Given the description of an element on the screen output the (x, y) to click on. 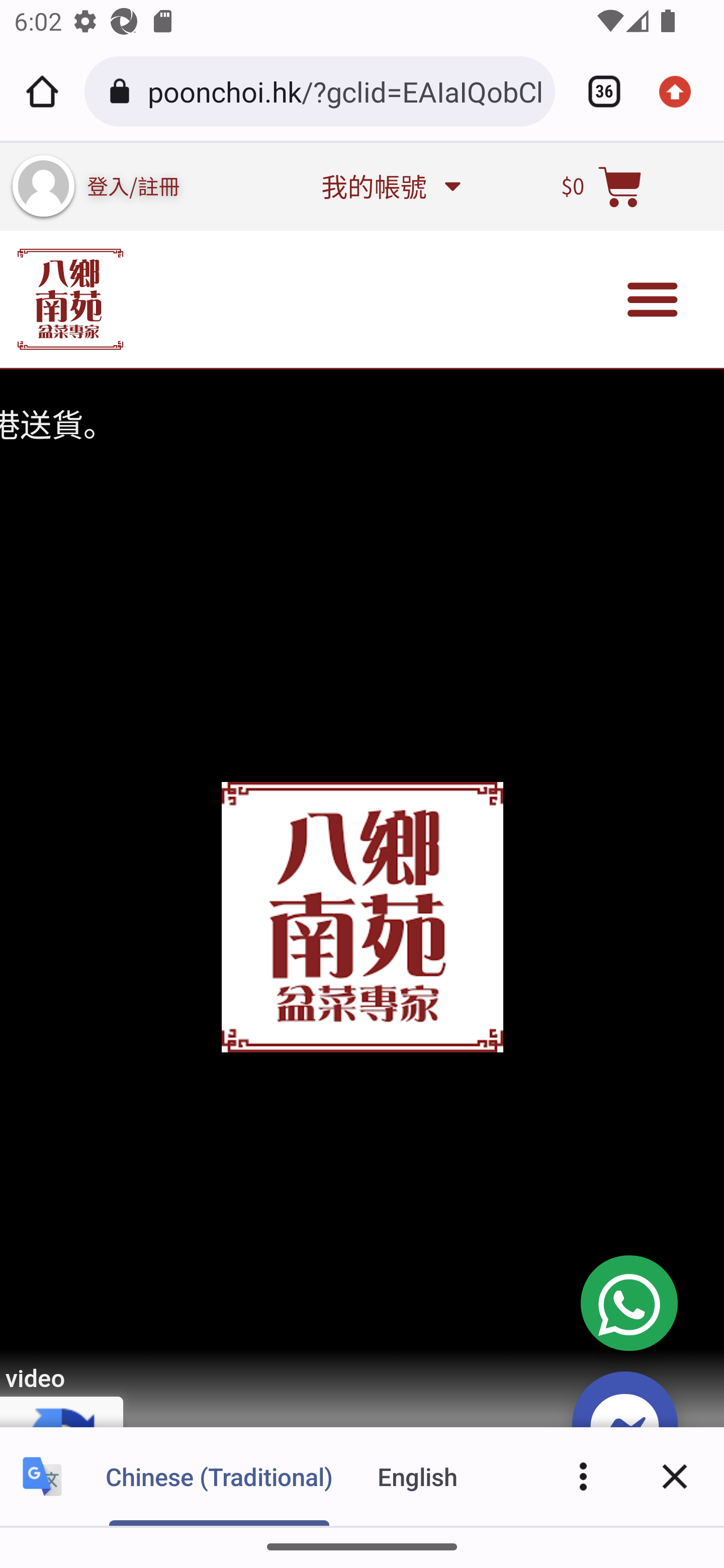
Home (42, 91)
Connection is secure (122, 91)
Switch or close tabs (597, 91)
Update available. More options (681, 91)
$0  購物籃 $ 0  (601, 186)
我的帳號  我的帳號  (390, 185)
my-account (43, 186)
登入/註冊 (133, 185)
www.poonchoi (70, 299)
選單切換 (652, 299)
English (417, 1475)
More options (582, 1475)
Close (674, 1475)
